Given the description of an element on the screen output the (x, y) to click on. 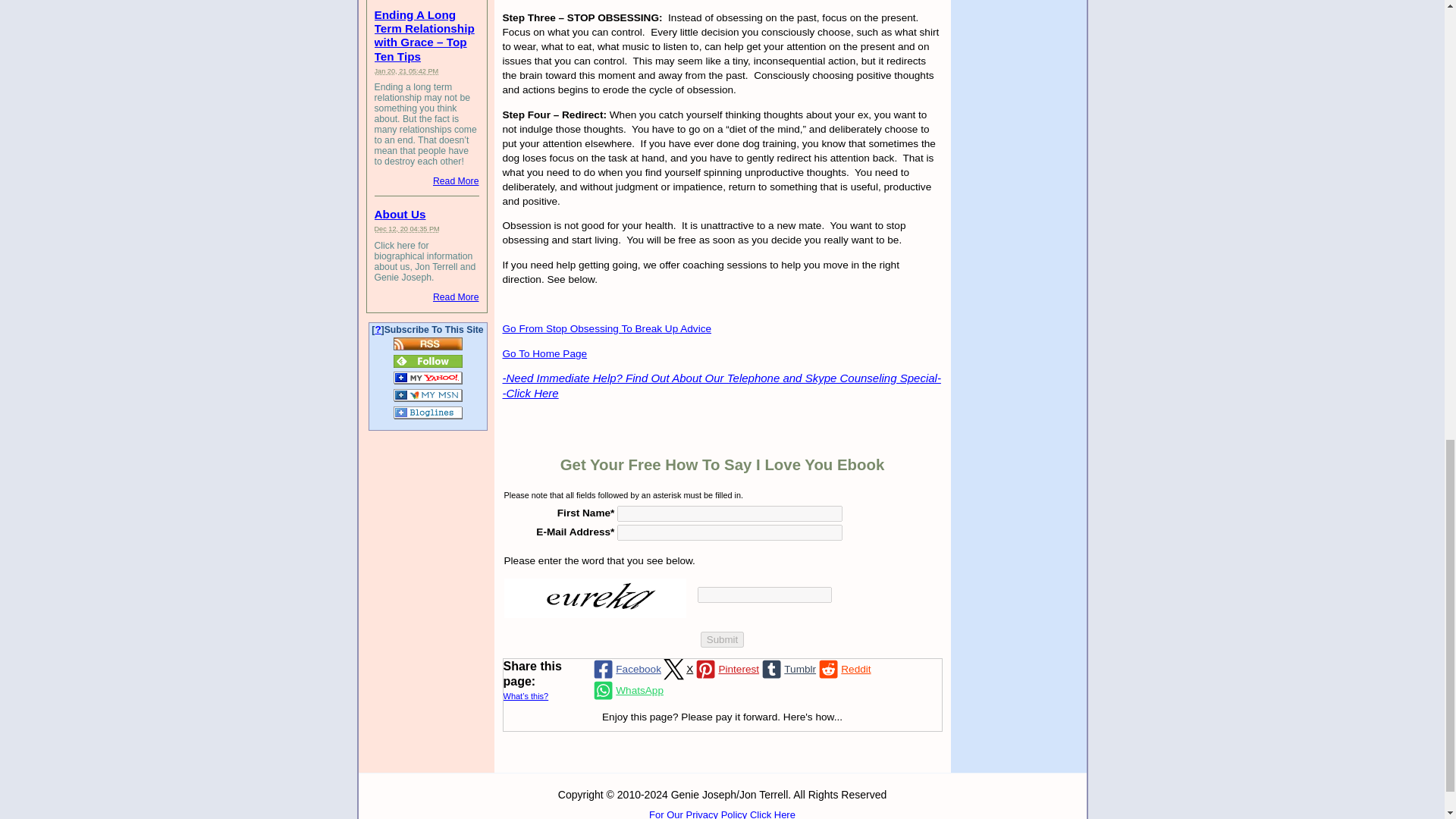
WhatsApp (627, 690)
Go To Home Page (544, 353)
Read More (455, 181)
About Us (400, 214)
2021-01-20T17:42:57-0500 (406, 70)
X (677, 669)
Facebook (626, 669)
Submit (722, 639)
Submit (722, 639)
Go From Stop Obsessing To Break Up Advice (606, 328)
